Given the description of an element on the screen output the (x, y) to click on. 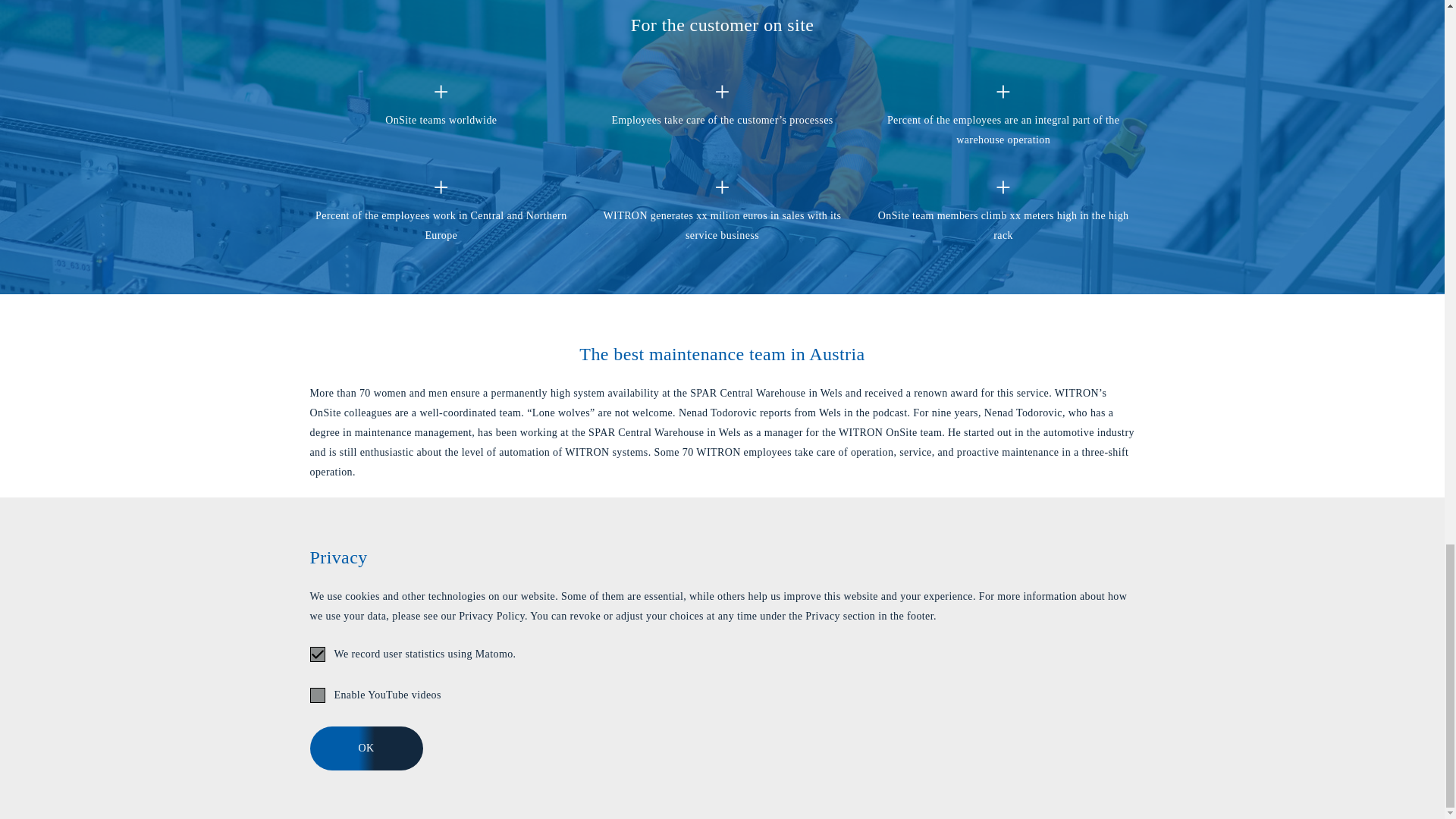
Facebook (1051, 743)
Xing (919, 743)
Instagram (1118, 743)
LinkedIn (986, 743)
E-Mail (785, 743)
Podcast (721, 617)
Phone (852, 743)
